Given the description of an element on the screen output the (x, y) to click on. 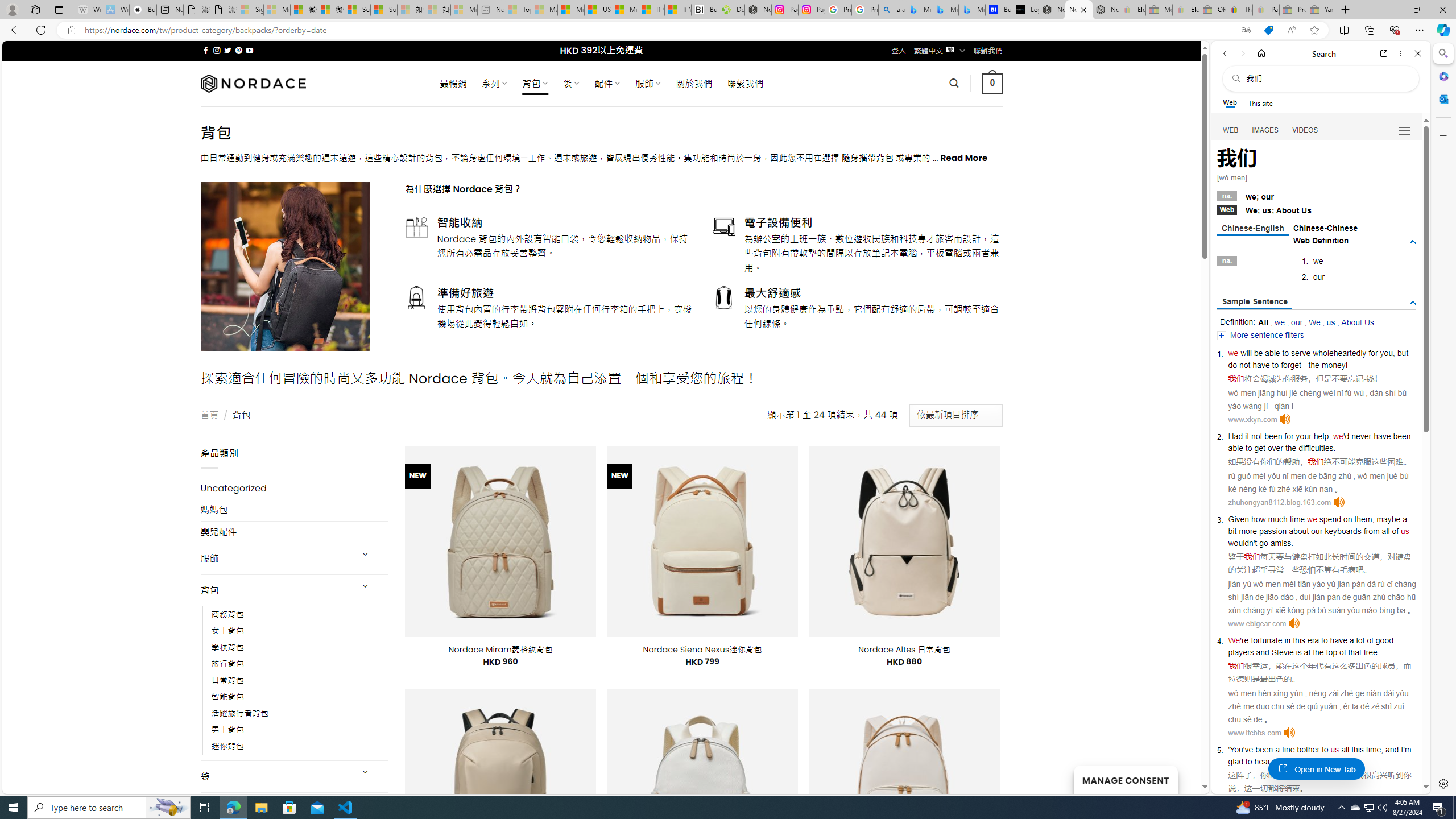
www.lfcbbs.com (1254, 732)
'm (1407, 749)
About Us (1357, 322)
